Given the description of an element on the screen output the (x, y) to click on. 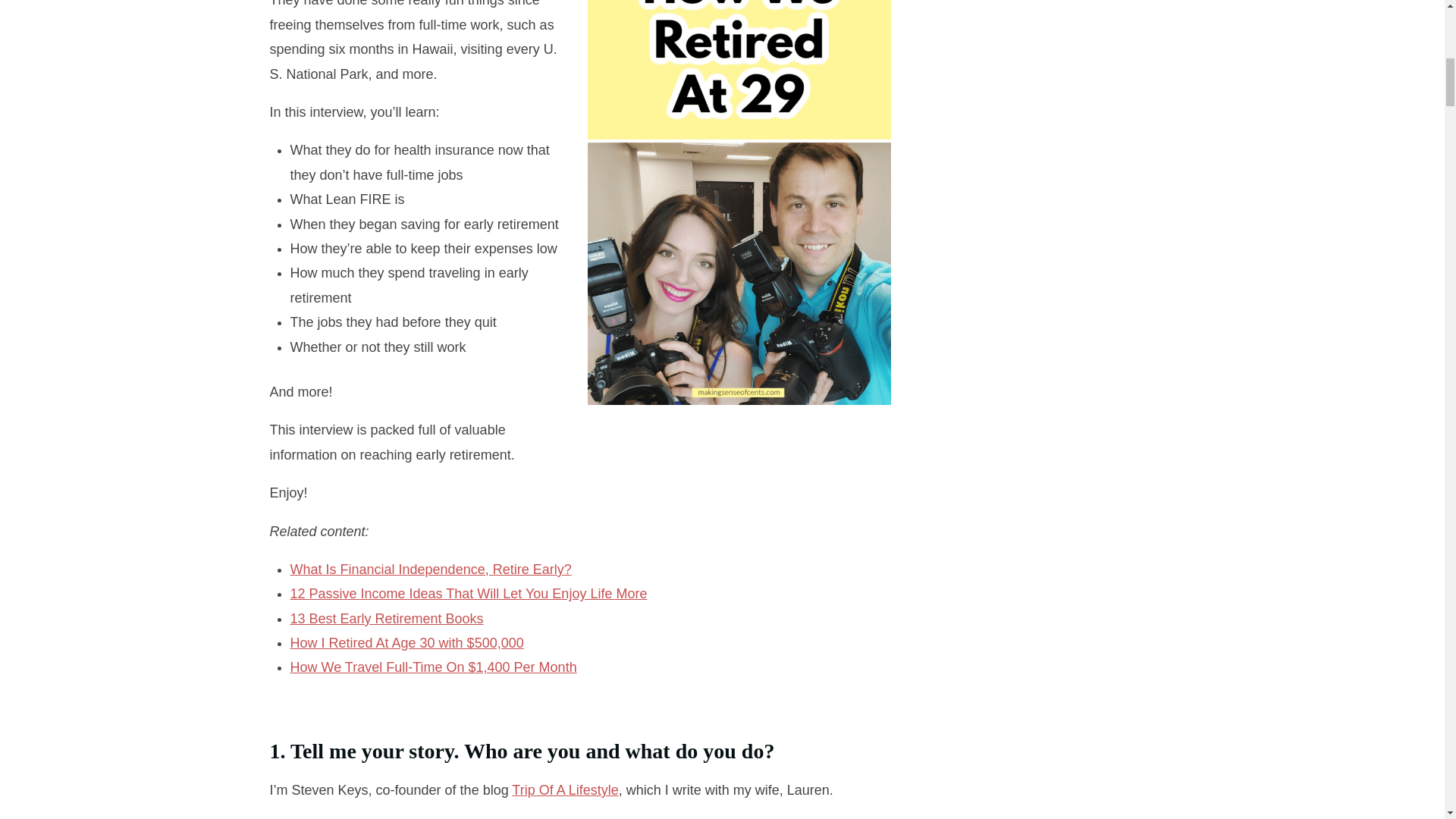
What Is Financial Independence, Retire Early? (429, 569)
12 Passive Income Ideas That Will Let You Enjoy Life More (467, 593)
13 Best Early Retirement Books (386, 618)
Trip Of A Lifestyle (564, 789)
